Given the description of an element on the screen output the (x, y) to click on. 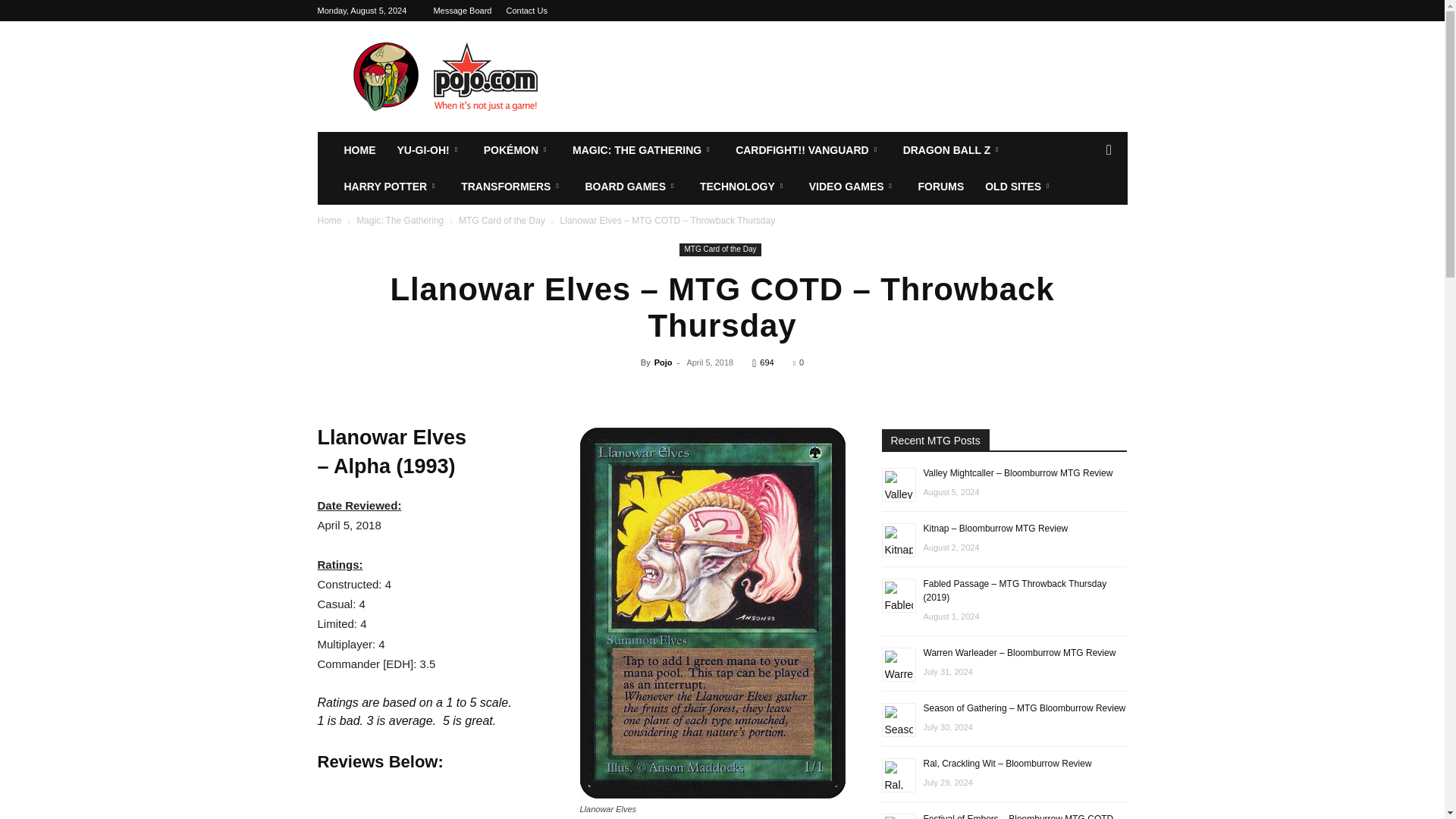
View all posts in MTG Card of the Day (501, 220)
View all posts in Magic: The Gathering (400, 220)
Pojo.com (445, 76)
